Given the description of an element on the screen output the (x, y) to click on. 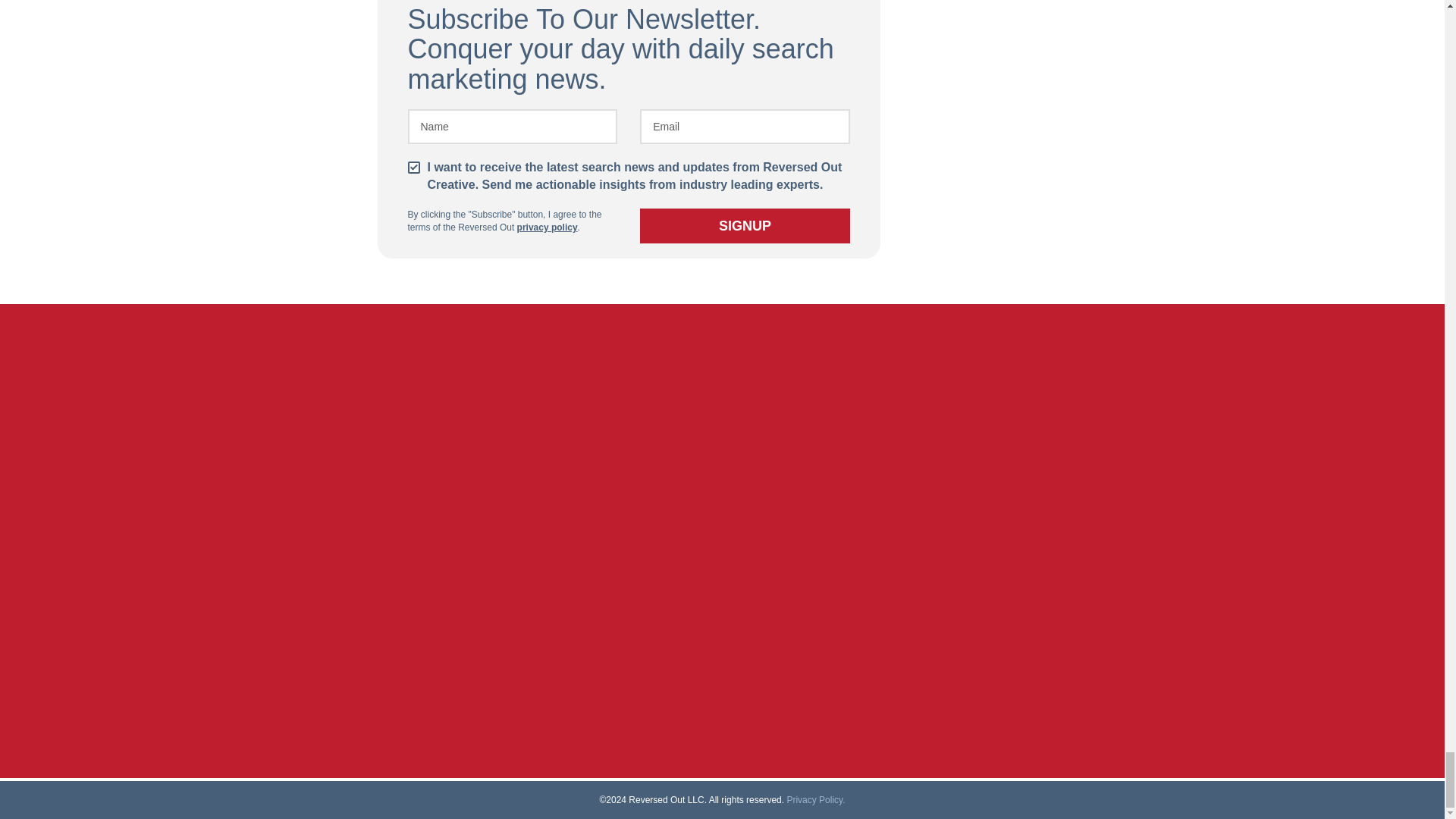
1 (413, 167)
Signup (745, 225)
